Given the description of an element on the screen output the (x, y) to click on. 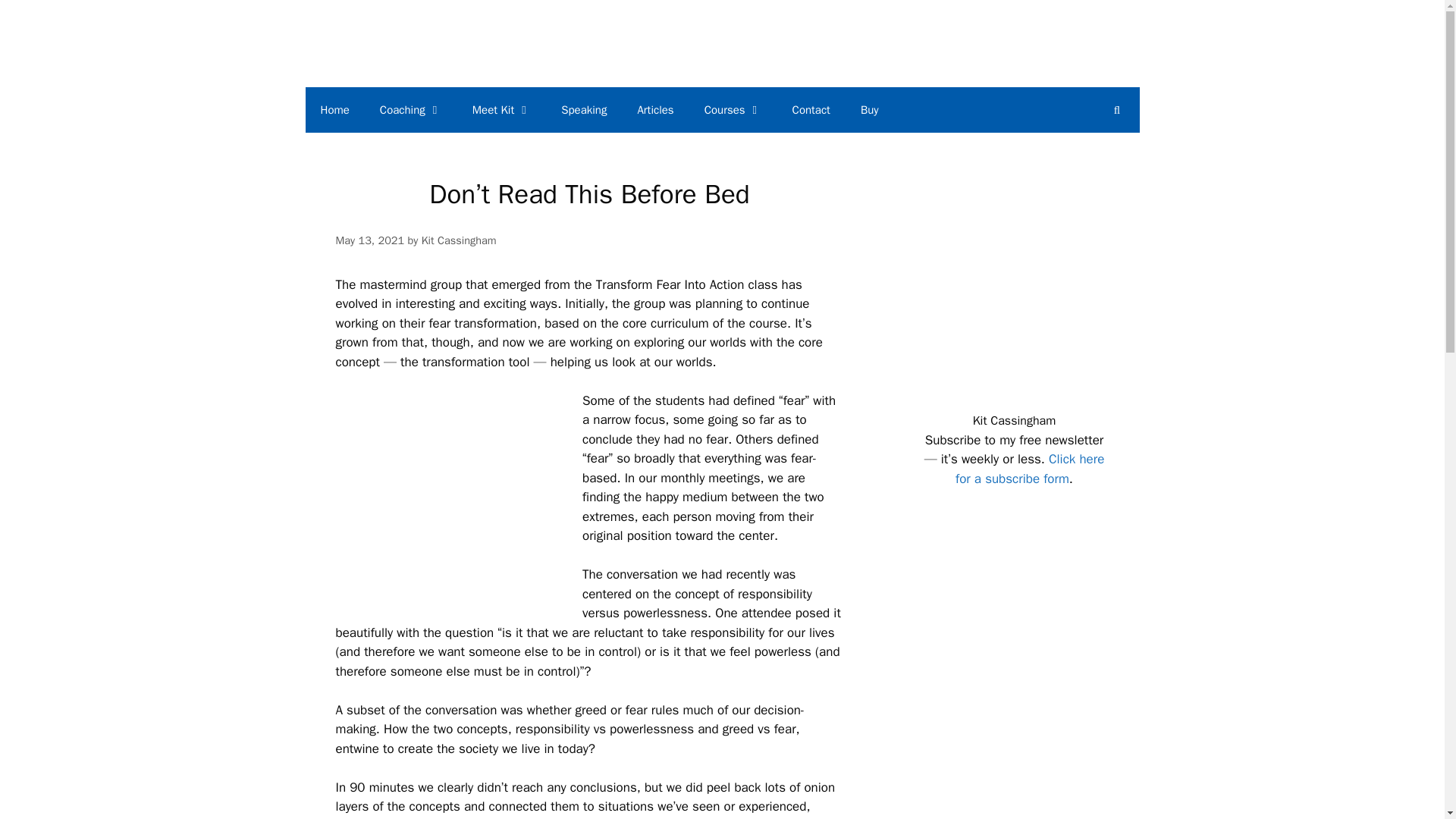
Courses (732, 109)
Contact (811, 109)
Advertisement (1036, 796)
Speaking (583, 109)
Coaching (411, 109)
Buy (869, 109)
Click here for a subscribe form (1029, 468)
Advertisement (1036, 658)
Meet Kit (501, 109)
View all posts by Kit Cassingham (459, 240)
